Given the description of an element on the screen output the (x, y) to click on. 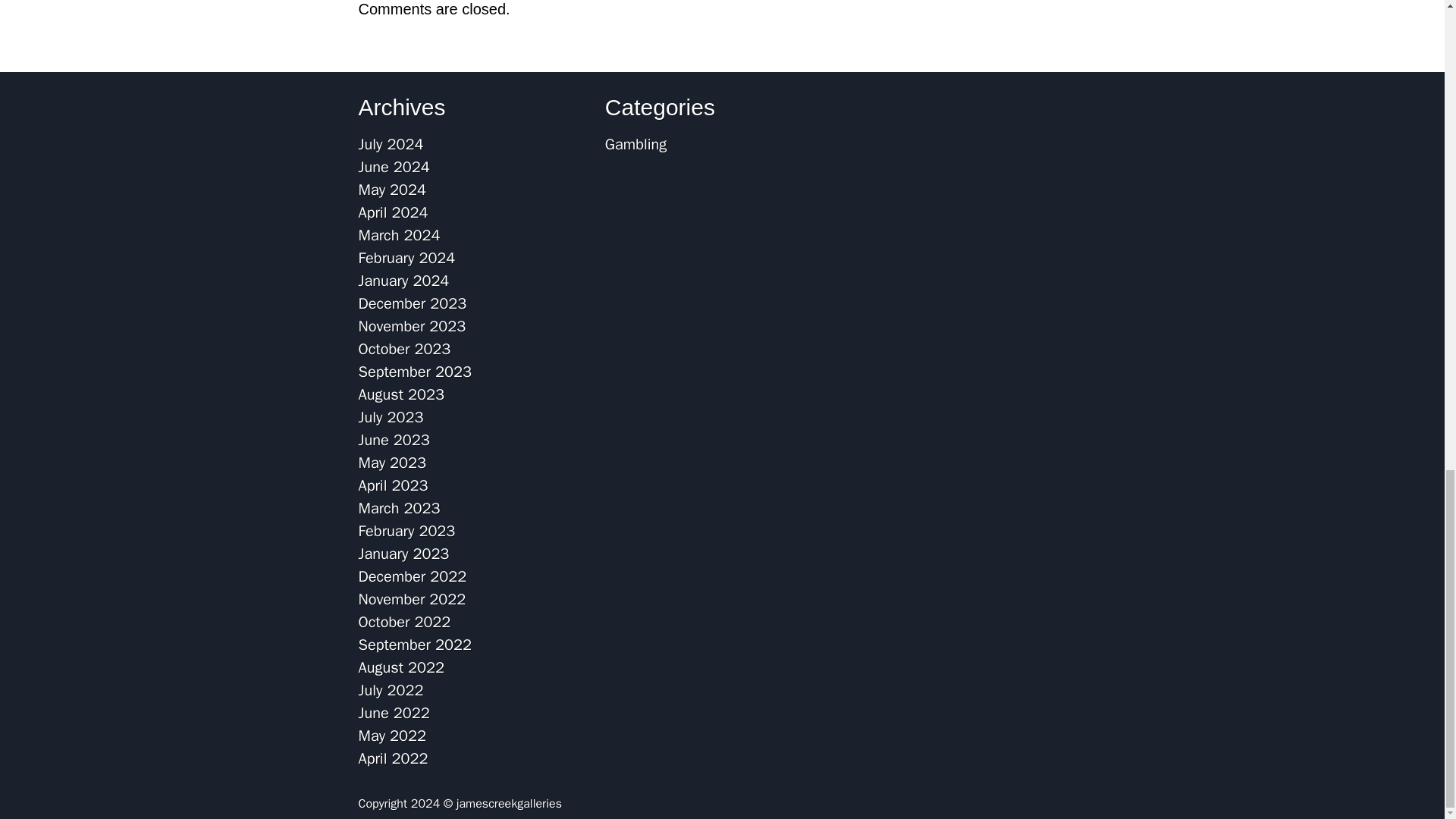
August 2022 (401, 667)
August 2023 (401, 394)
March 2023 (398, 507)
November 2022 (411, 599)
June 2022 (393, 712)
November 2023 (411, 325)
October 2023 (403, 348)
April 2022 (393, 758)
July 2023 (390, 416)
June 2023 (393, 439)
January 2023 (403, 553)
March 2024 (398, 235)
April 2024 (393, 212)
July 2024 (390, 144)
May 2024 (392, 189)
